Given the description of an element on the screen output the (x, y) to click on. 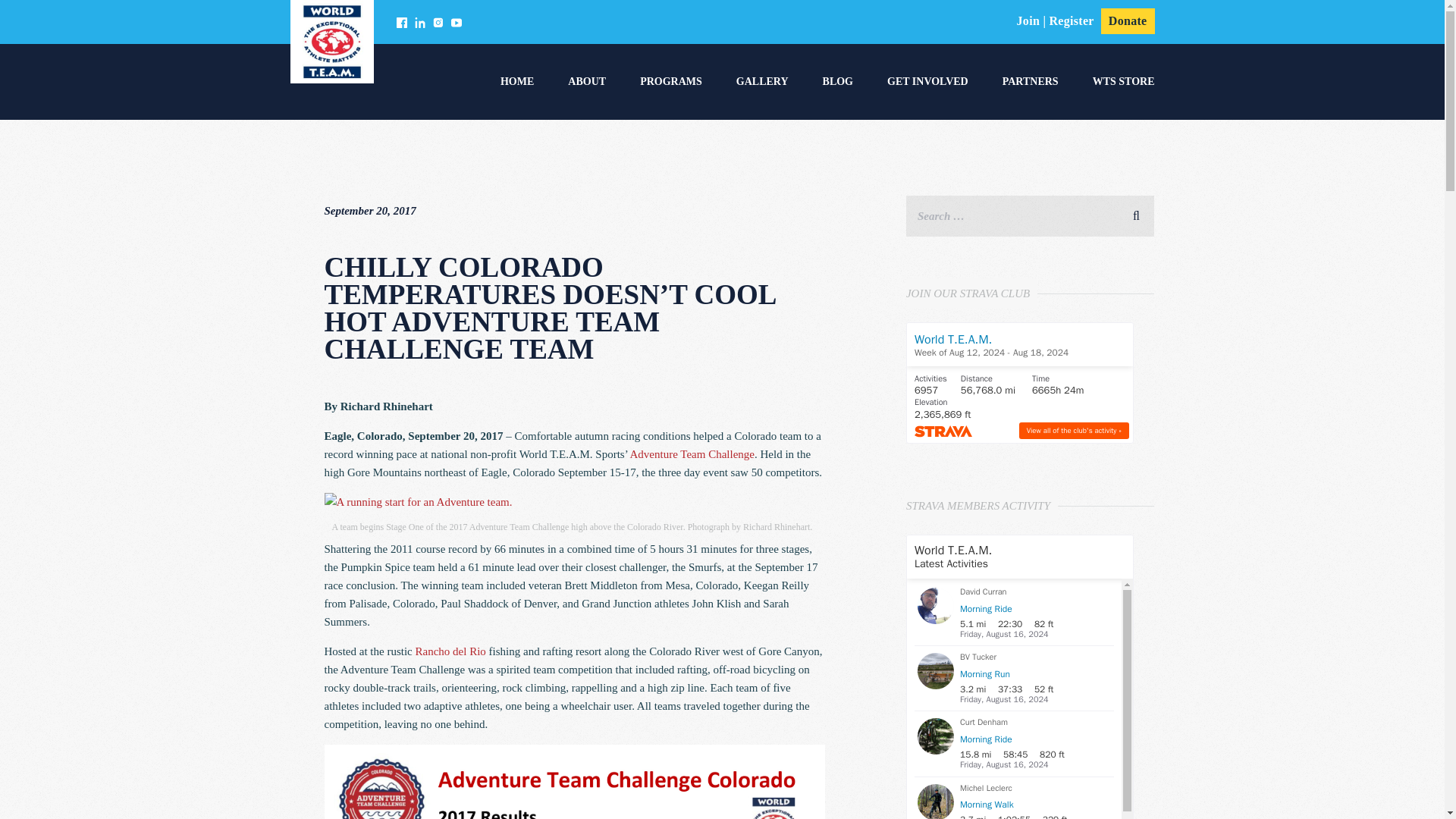
Search (1136, 213)
Register (1071, 20)
PROGRAMS (670, 81)
GALLERY (762, 81)
ABOUT (586, 81)
PARTNERS (1030, 81)
GET INVOLVED (927, 81)
Join (1028, 20)
Search (1136, 213)
BLOG (837, 81)
